Given the description of an element on the screen output the (x, y) to click on. 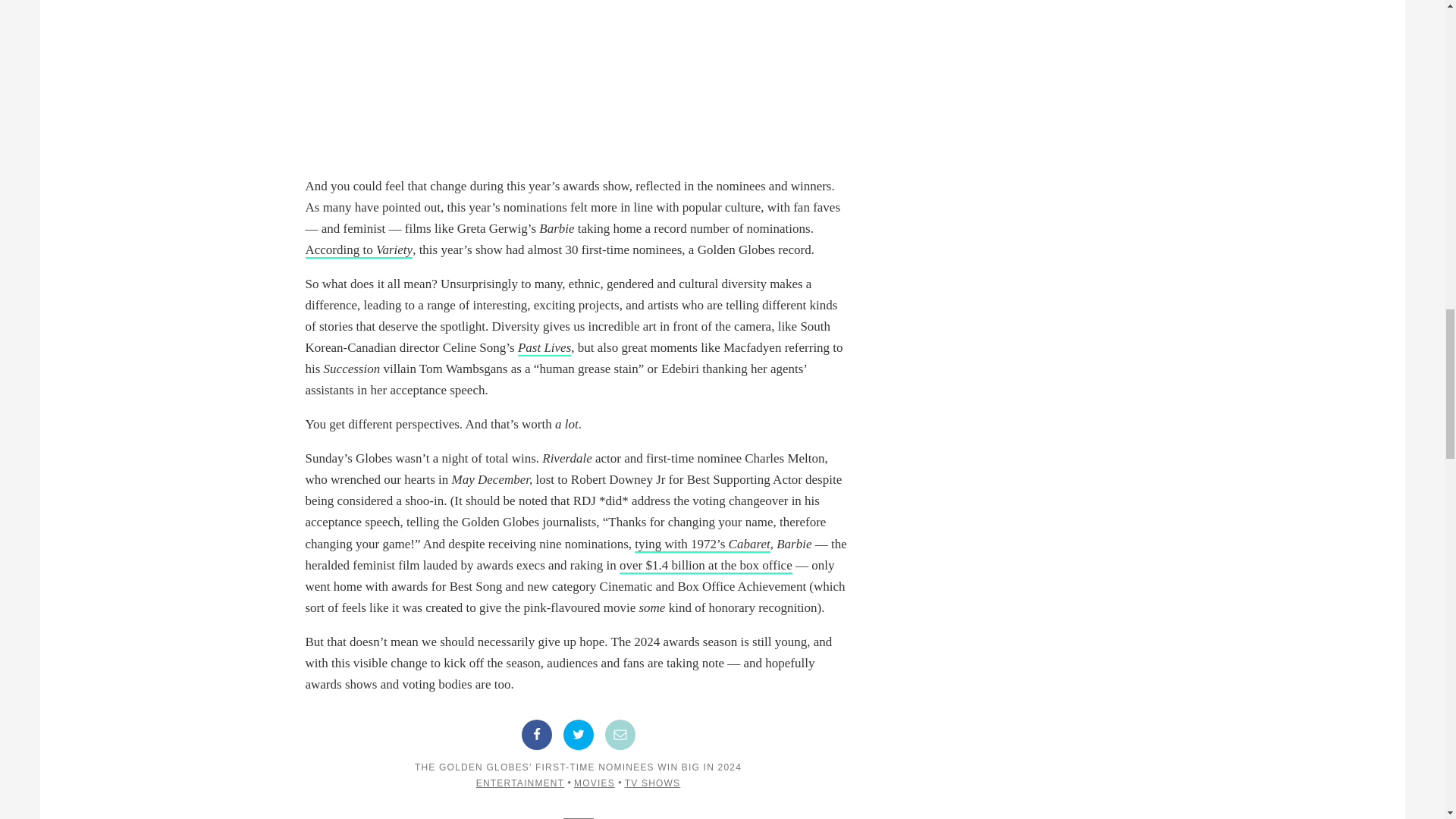
According to Variety (358, 250)
Share on Twitter (577, 734)
ENTERTAINMENT (520, 783)
Share by Email (619, 734)
MOVIES (593, 783)
Past Lives (544, 348)
